Given the description of an element on the screen output the (x, y) to click on. 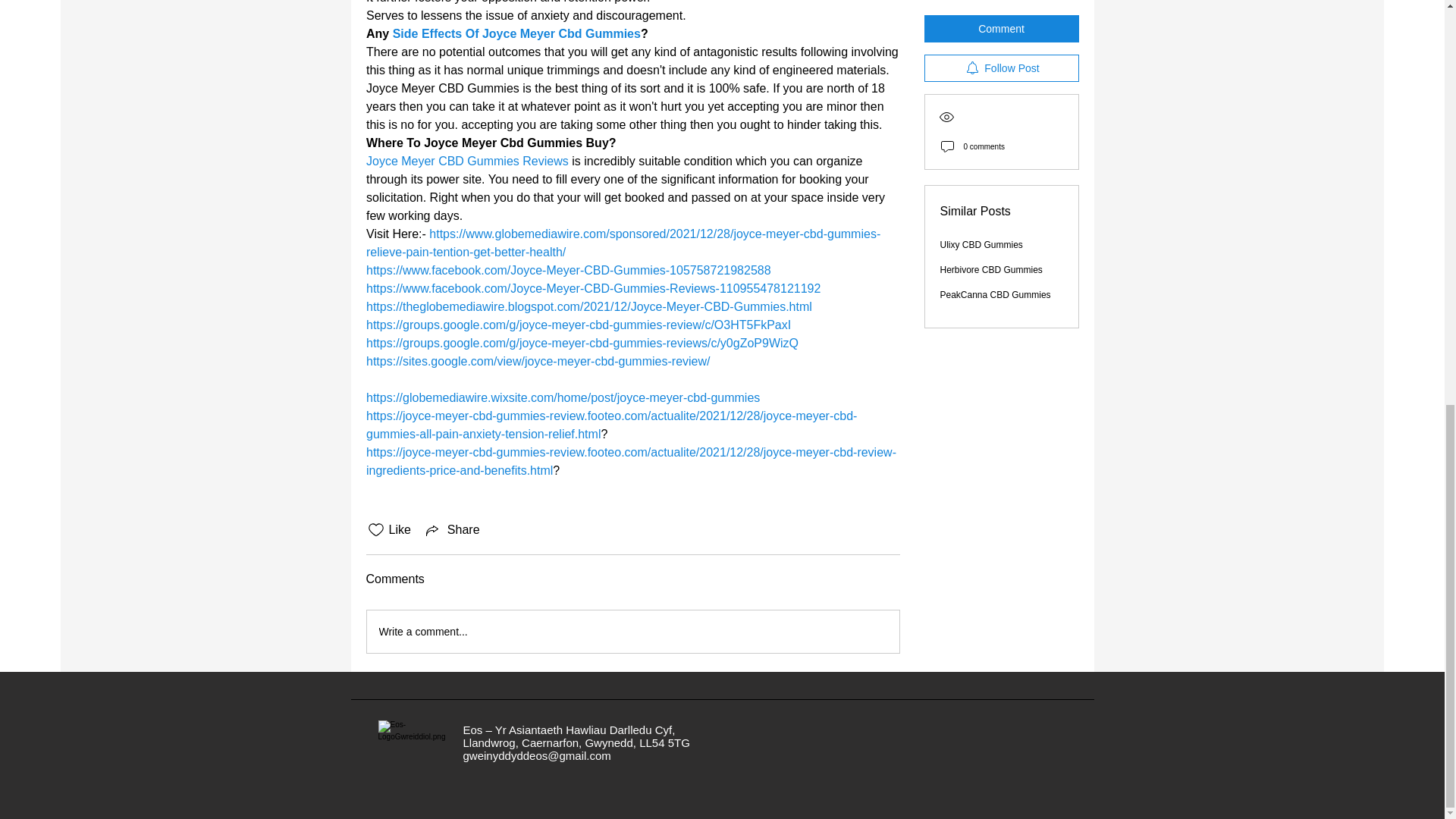
Side Effects Of Joyce Meyer Cbd Gummies (515, 33)
Share (451, 529)
Joyce Meyer CBD Gummies Reviews (466, 160)
